Given the description of an element on the screen output the (x, y) to click on. 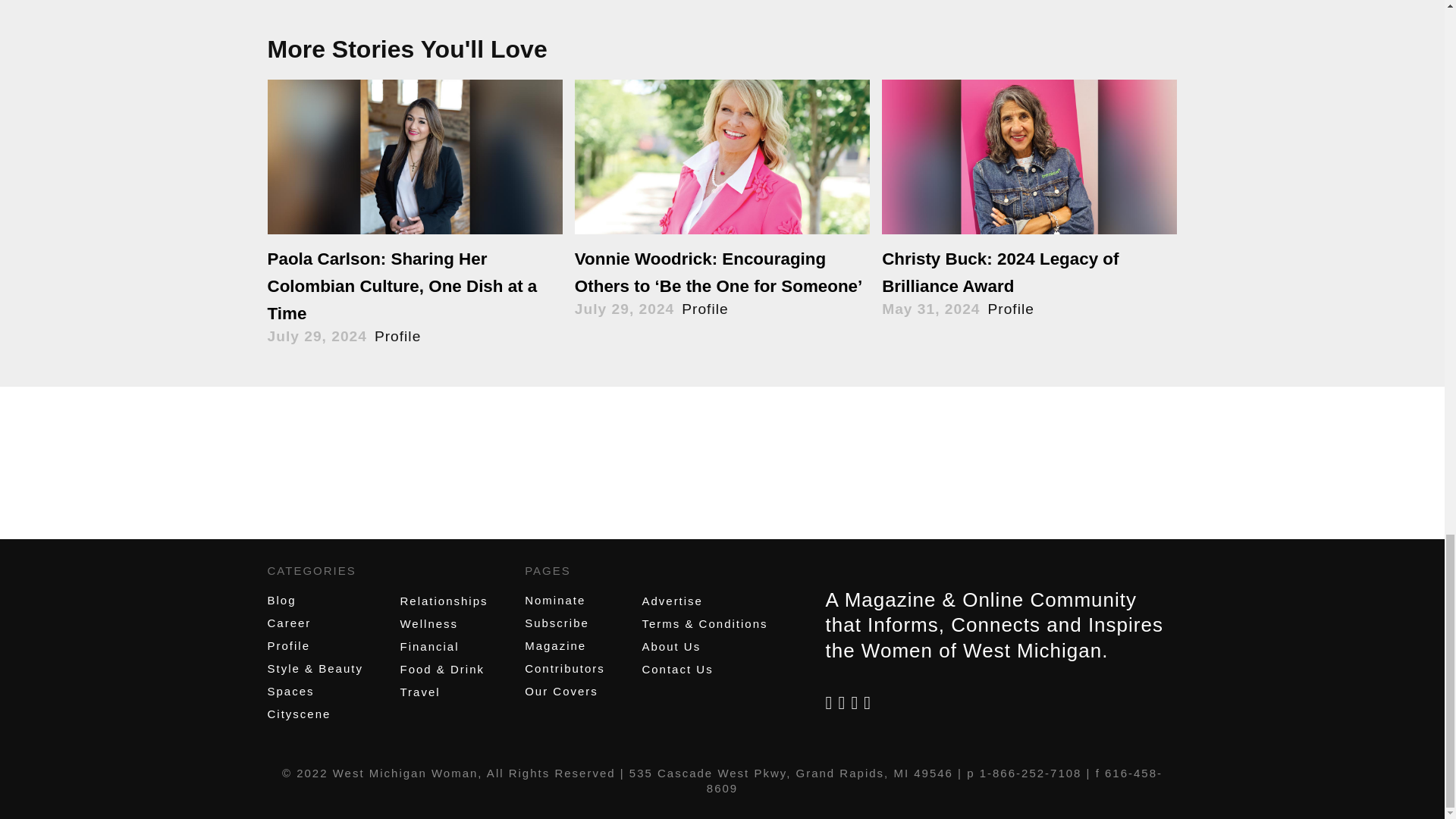
Spaces (290, 690)
Cityscene (298, 713)
Wellness (428, 623)
3rd party ad content (721, 477)
Career (288, 622)
Blog (280, 599)
Profile (288, 645)
Relationships (442, 600)
